Given the description of an element on the screen output the (x, y) to click on. 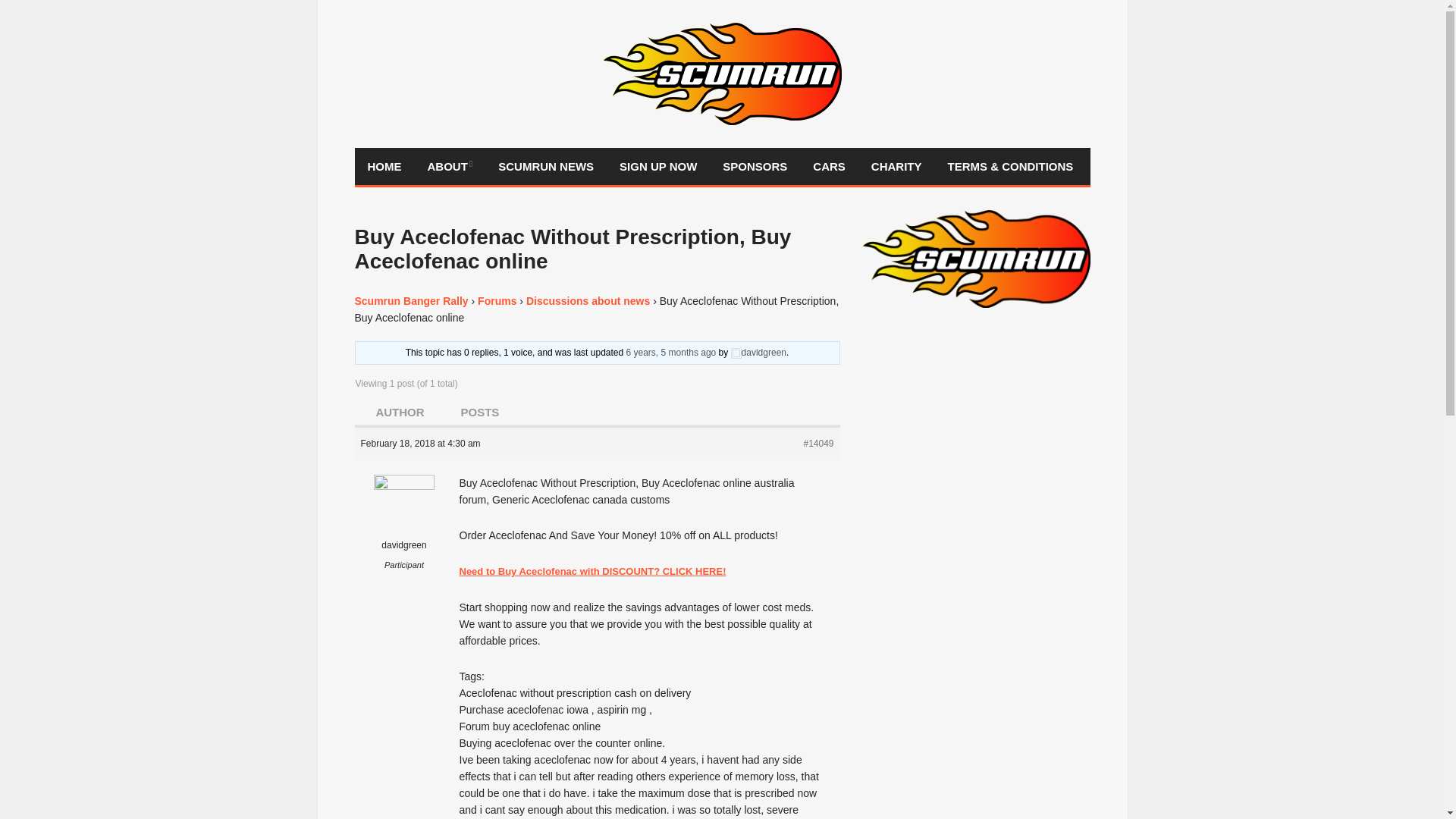
ABOUT (448, 166)
Sponsors (754, 166)
davidgreen (404, 524)
Sign Up Now (658, 166)
View davidgreen's profile (758, 352)
6 years, 5 months ago (671, 352)
Buy Aceclofenac Without Prescription, Buy Aceclofenac online (671, 352)
CHARITY (896, 166)
Cars (829, 166)
Scumrun Banger Rally (411, 300)
